Given the description of an element on the screen output the (x, y) to click on. 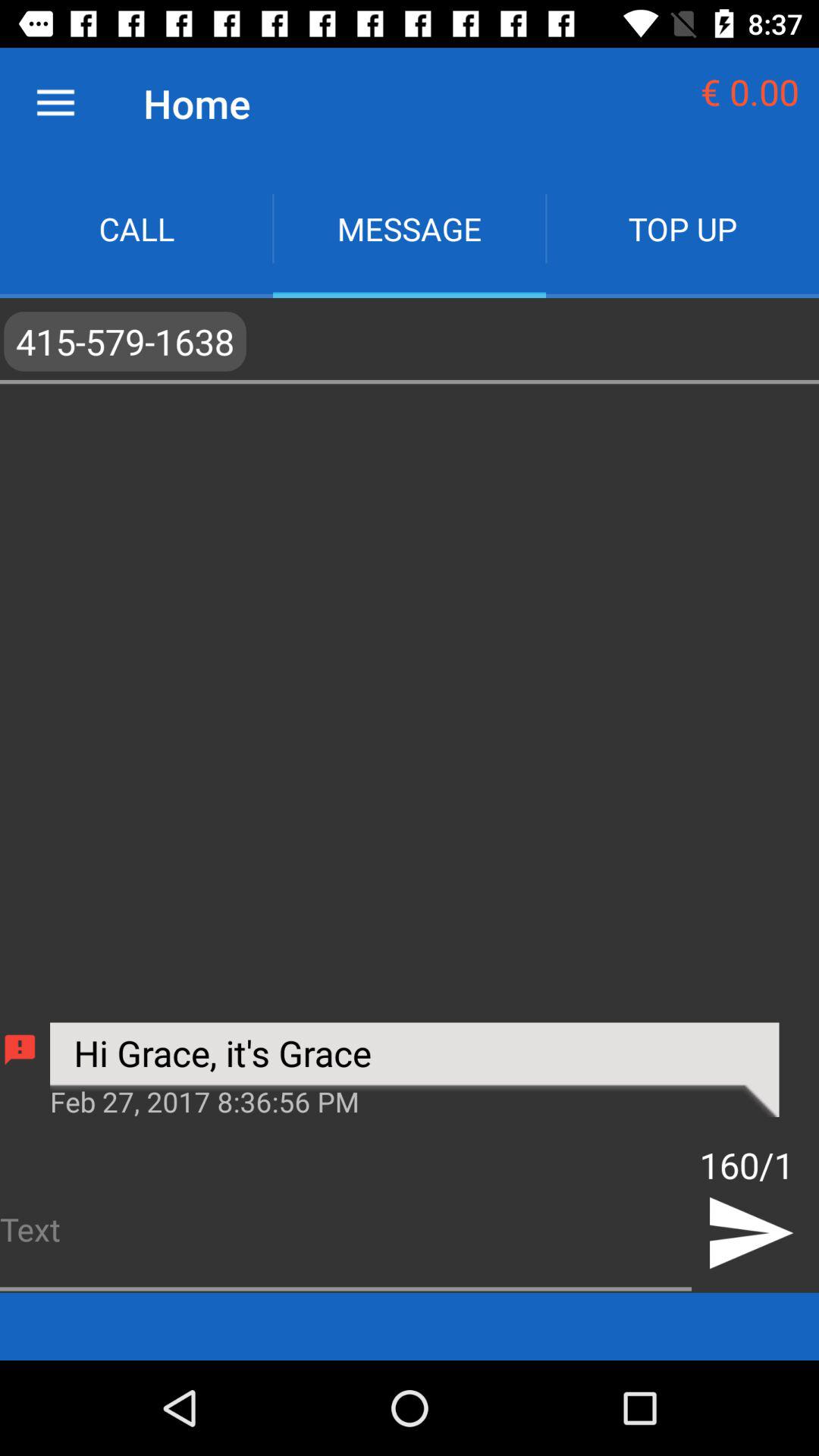
turn on item above the ,415-579-1638,  item (409, 228)
